Given the description of an element on the screen output the (x, y) to click on. 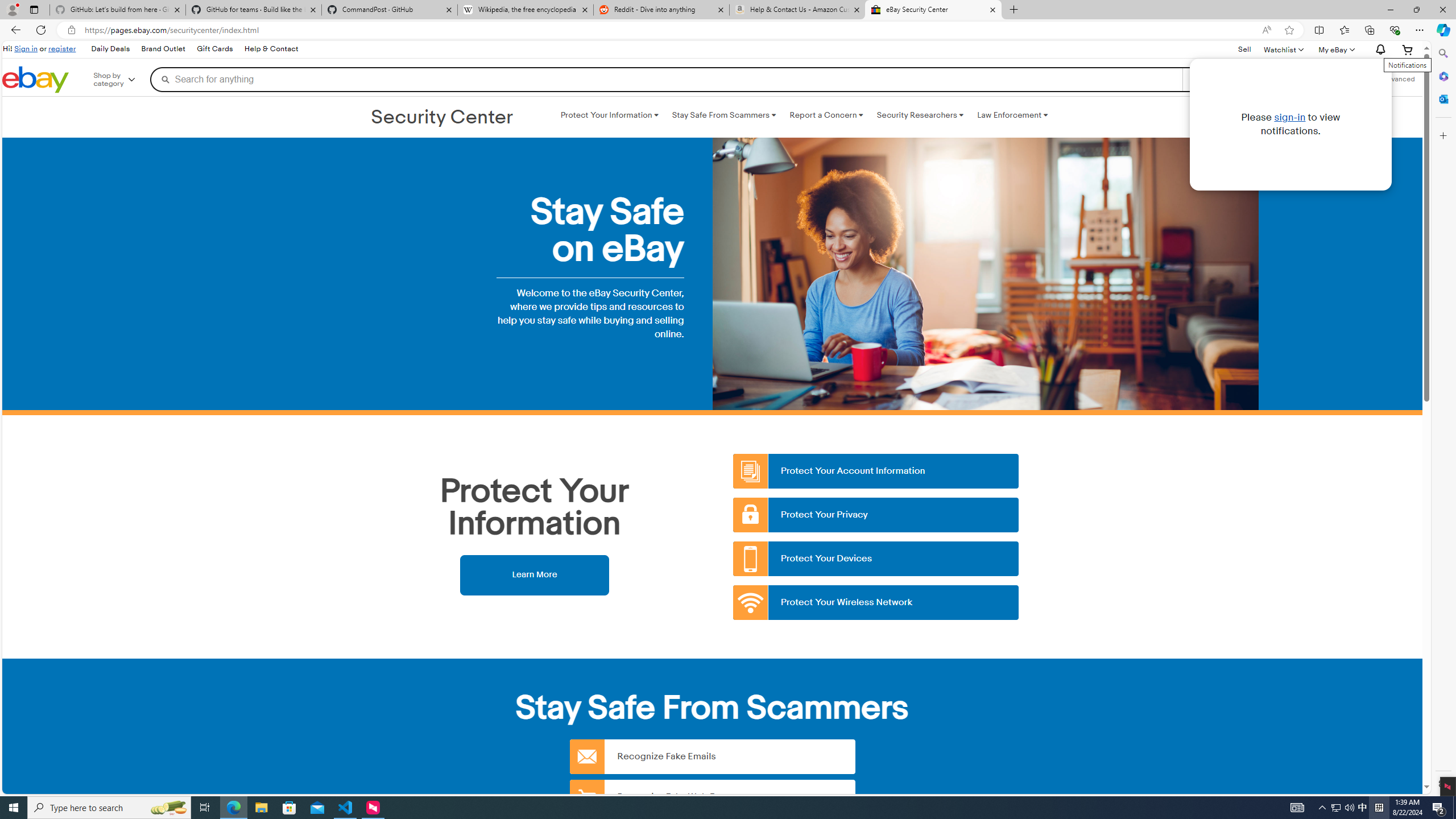
Please sign-in to view notifications. (1290, 124)
Help & Contact Us - Amazon Customer Service - Sleeping (797, 9)
Sell (1244, 49)
Protect Your Account Information (876, 470)
Sell (1244, 49)
eBay Security Center (933, 9)
App bar (728, 29)
Gift Cards (214, 49)
Security Researchers  (919, 115)
Expand Cart (1407, 49)
Report a Concern  (826, 115)
